Given the description of an element on the screen output the (x, y) to click on. 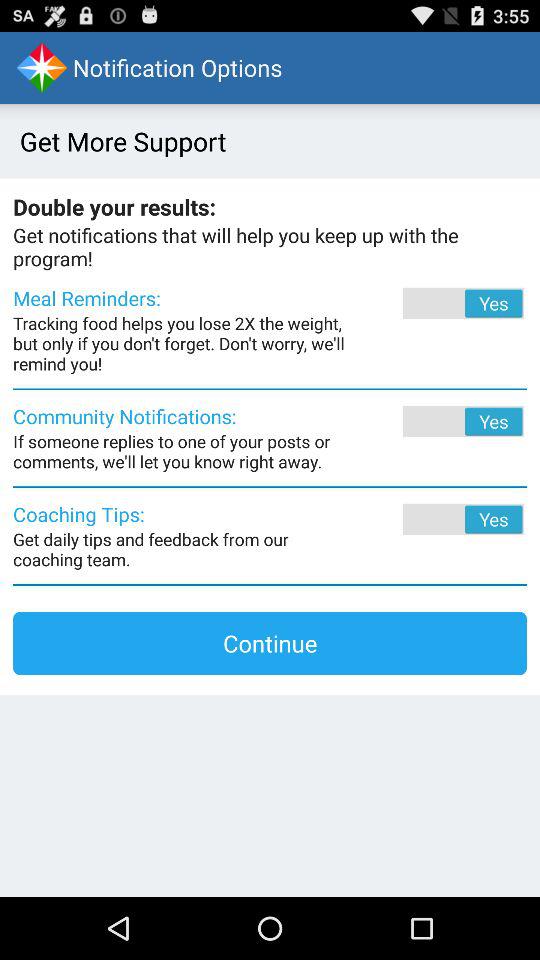
toggle notifications (436, 421)
